Given the description of an element on the screen output the (x, y) to click on. 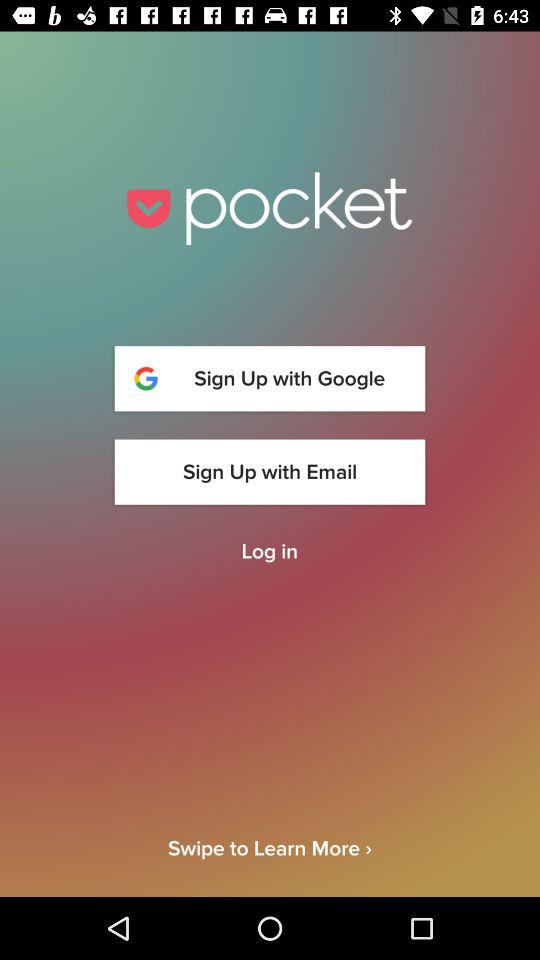
select the item above swipe to learn icon (269, 551)
